Given the description of an element on the screen output the (x, y) to click on. 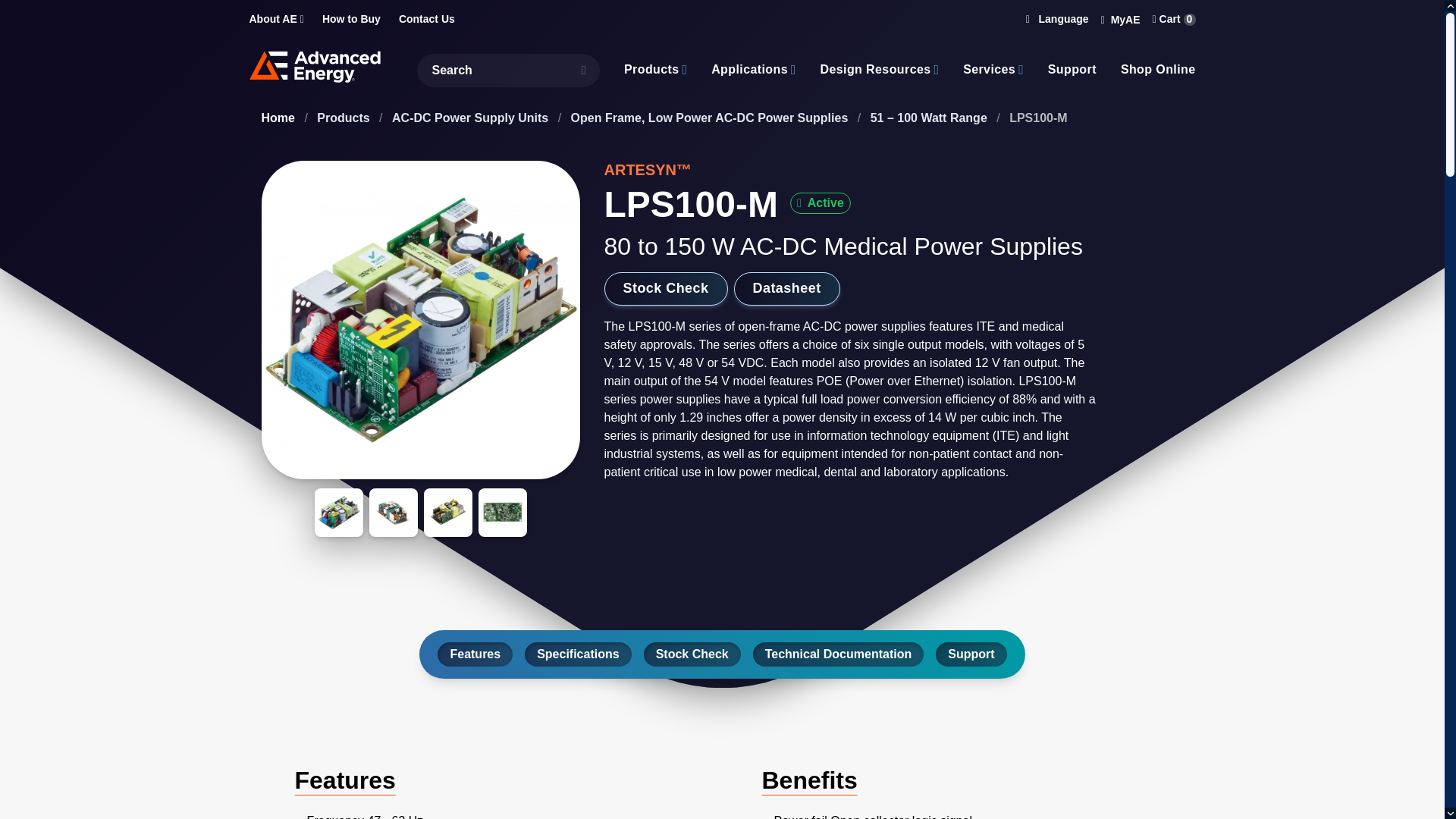
Support (1072, 69)
Services (988, 69)
Products (655, 69)
Contact Us (426, 19)
Contact Us (426, 19)
Shop Online (1158, 69)
Applications (749, 69)
About AE (275, 19)
How to Buy (350, 19)
How to Buy (350, 19)
